Given the description of an element on the screen output the (x, y) to click on. 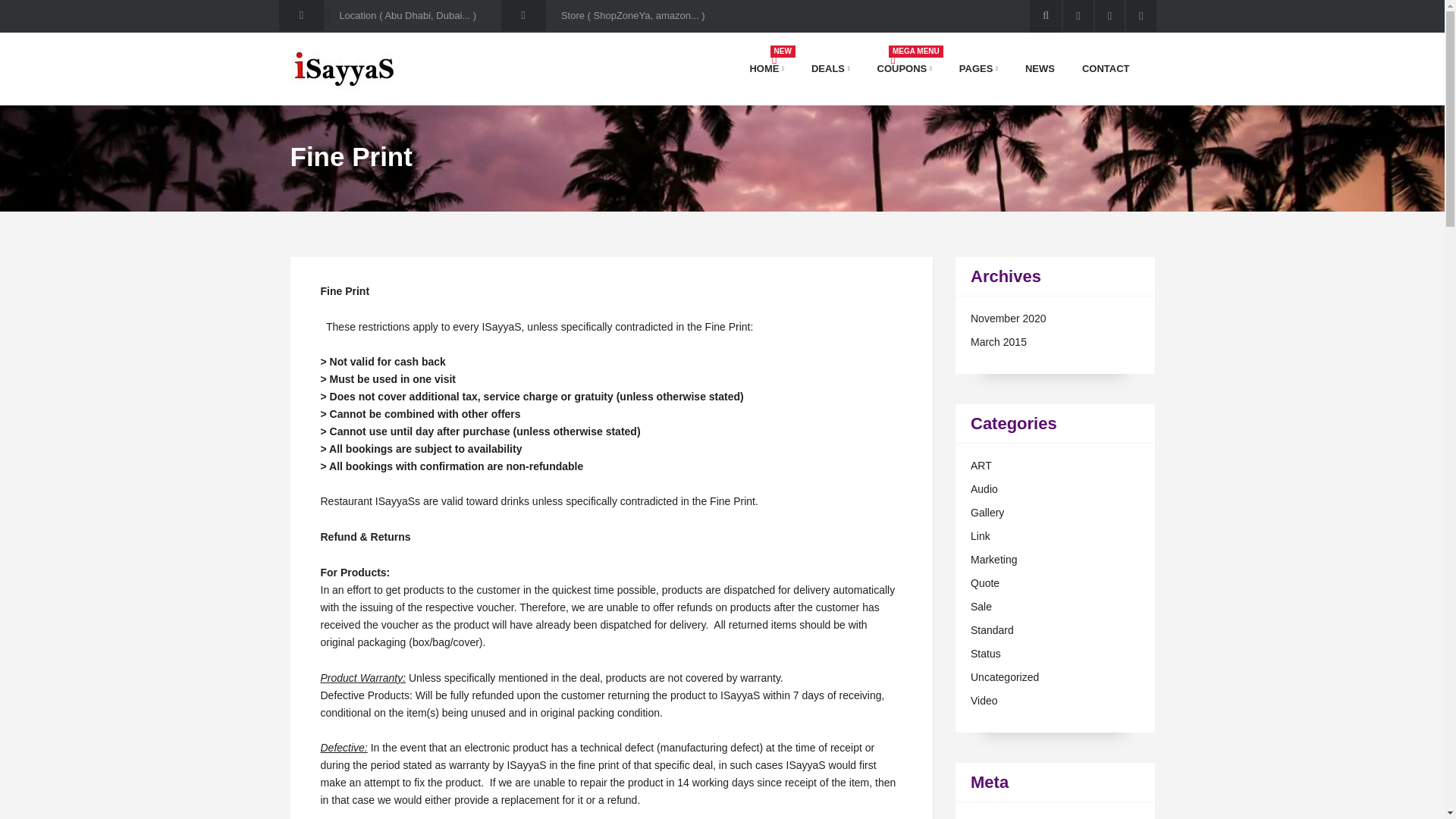
Standard (992, 630)
PAGES (978, 68)
November 2020 (1008, 318)
Marketing (993, 559)
Audio (984, 489)
Gallery (904, 68)
ART (987, 512)
Home (981, 465)
Coupons (766, 68)
Status (904, 68)
Pages (986, 653)
DEALS (978, 68)
Contact (830, 68)
Uncategorized (1105, 68)
